Given the description of an element on the screen output the (x, y) to click on. 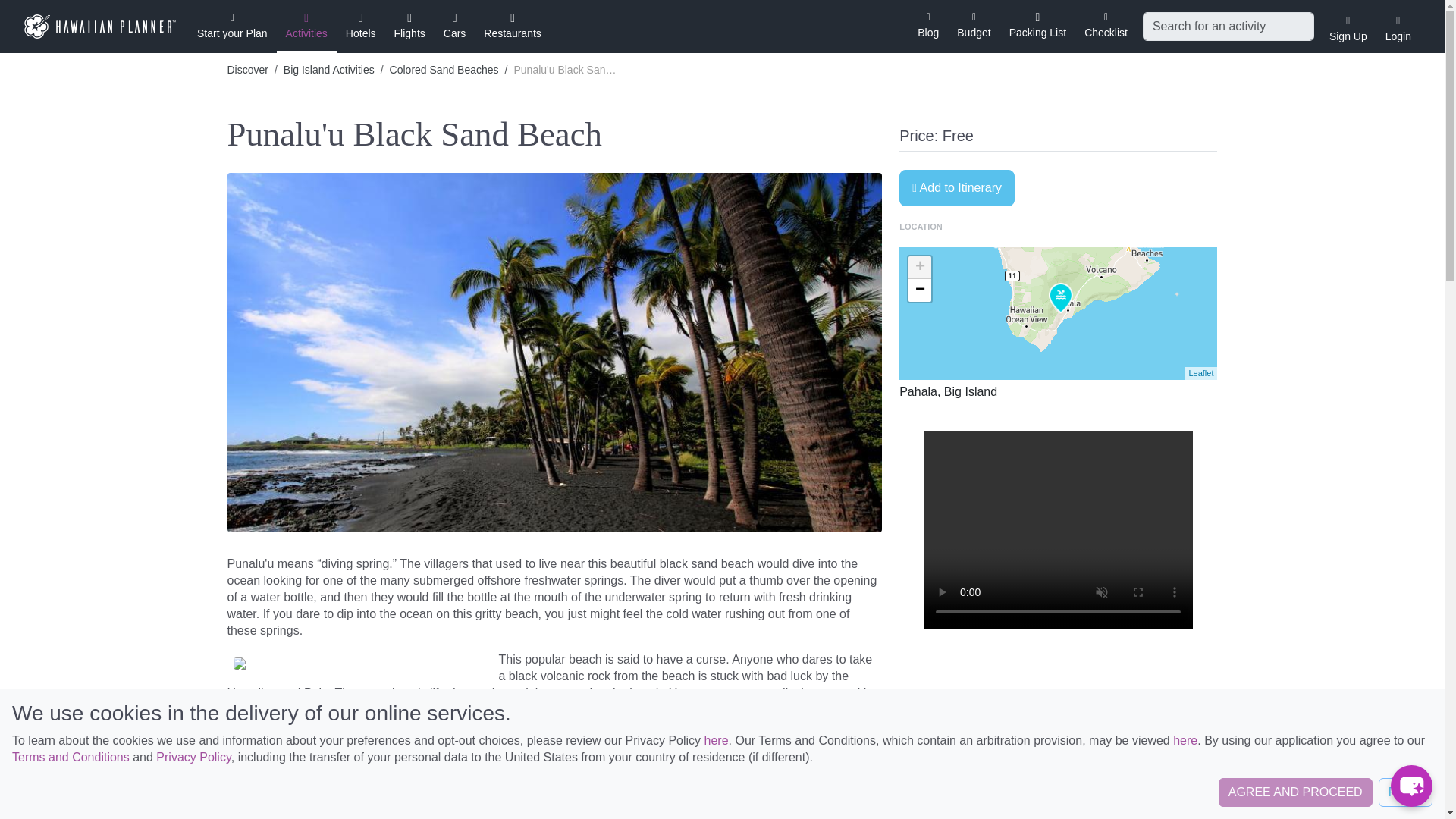
Start your Plan (231, 24)
Restaurants (511, 24)
Zoom in (919, 267)
Sign Up (1348, 23)
Zoom out (919, 290)
Packing List (1037, 24)
A JS library for interactive maps (1200, 372)
